Given the description of an element on the screen output the (x, y) to click on. 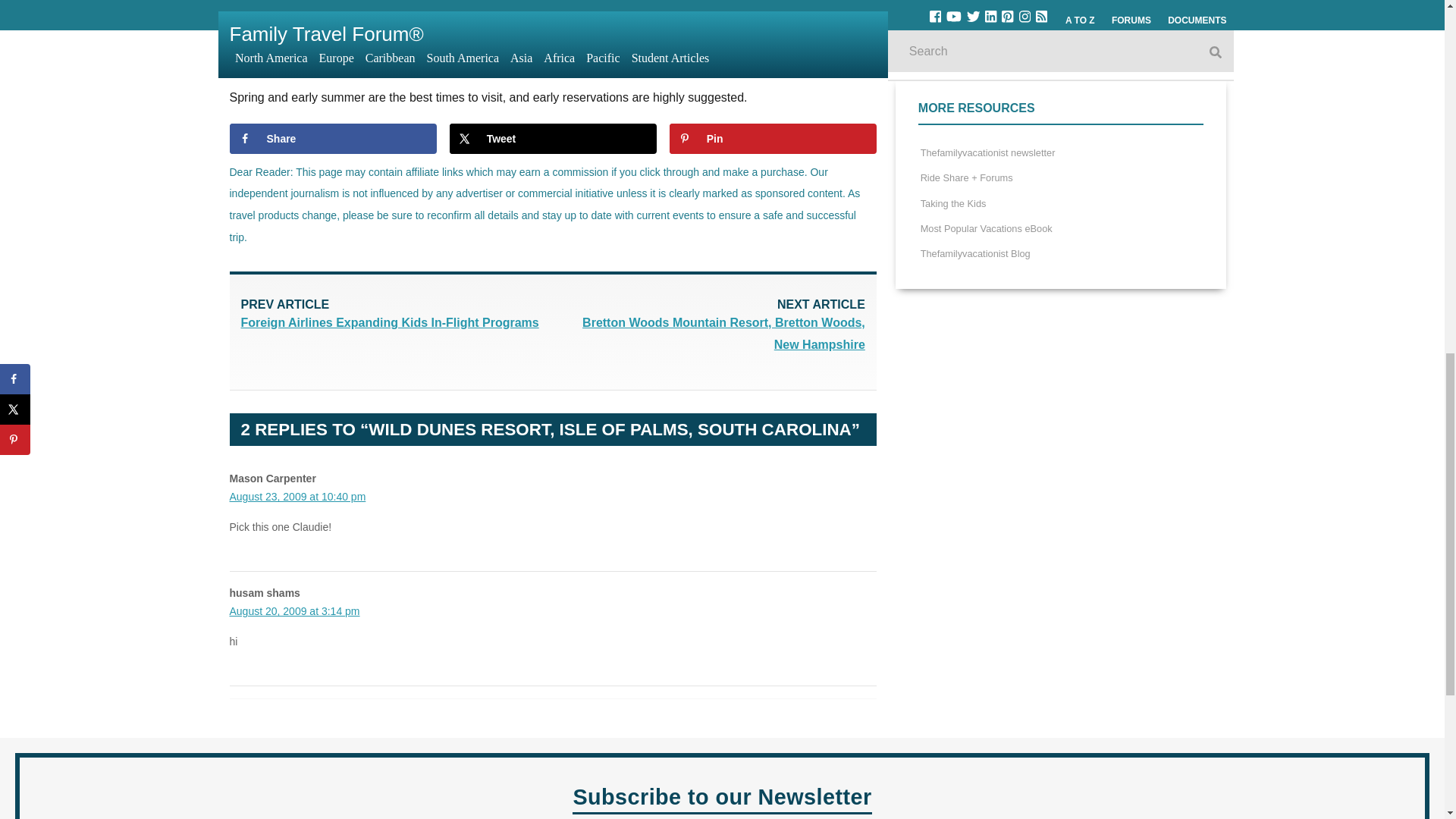
Pin (772, 138)
August 20, 2009 at 3:14 pm (293, 611)
Share on Facebook (331, 138)
Share on X (552, 138)
Tweet (552, 138)
Save to Pinterest (772, 138)
Share (331, 138)
August 23, 2009 at 10:40 pm (296, 496)
